Given the description of an element on the screen output the (x, y) to click on. 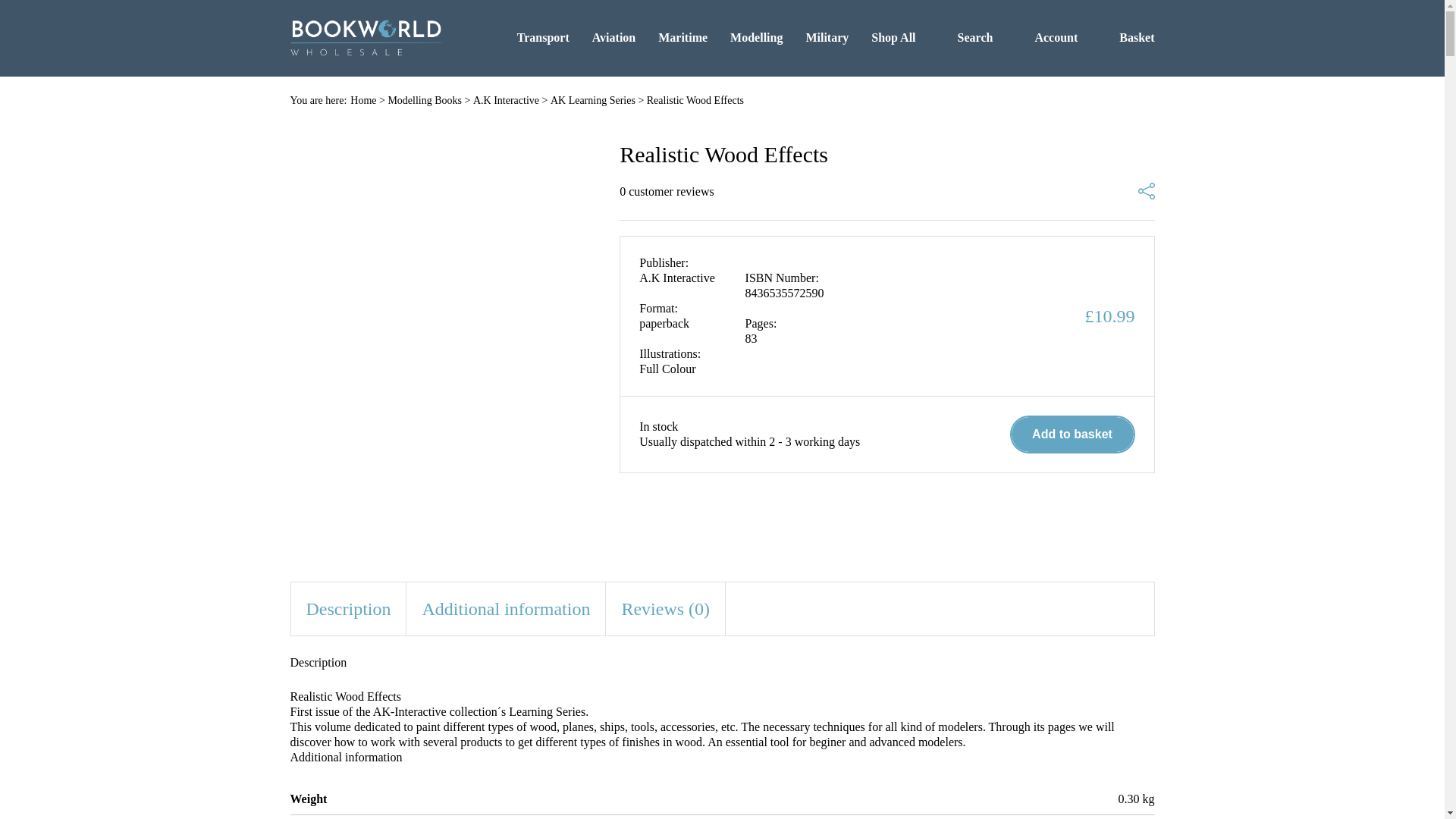
Modelling Books (424, 100)
Shop All (892, 37)
Home (362, 100)
Maritime (682, 37)
Add to basket (1072, 434)
Additional information (505, 608)
A.K Interactive (505, 100)
Basket (1127, 37)
AK Learning Series (592, 100)
Search (965, 37)
Aviation (613, 37)
Modelling (756, 37)
Transport (542, 37)
Military (826, 37)
Description (349, 608)
